Given the description of an element on the screen output the (x, y) to click on. 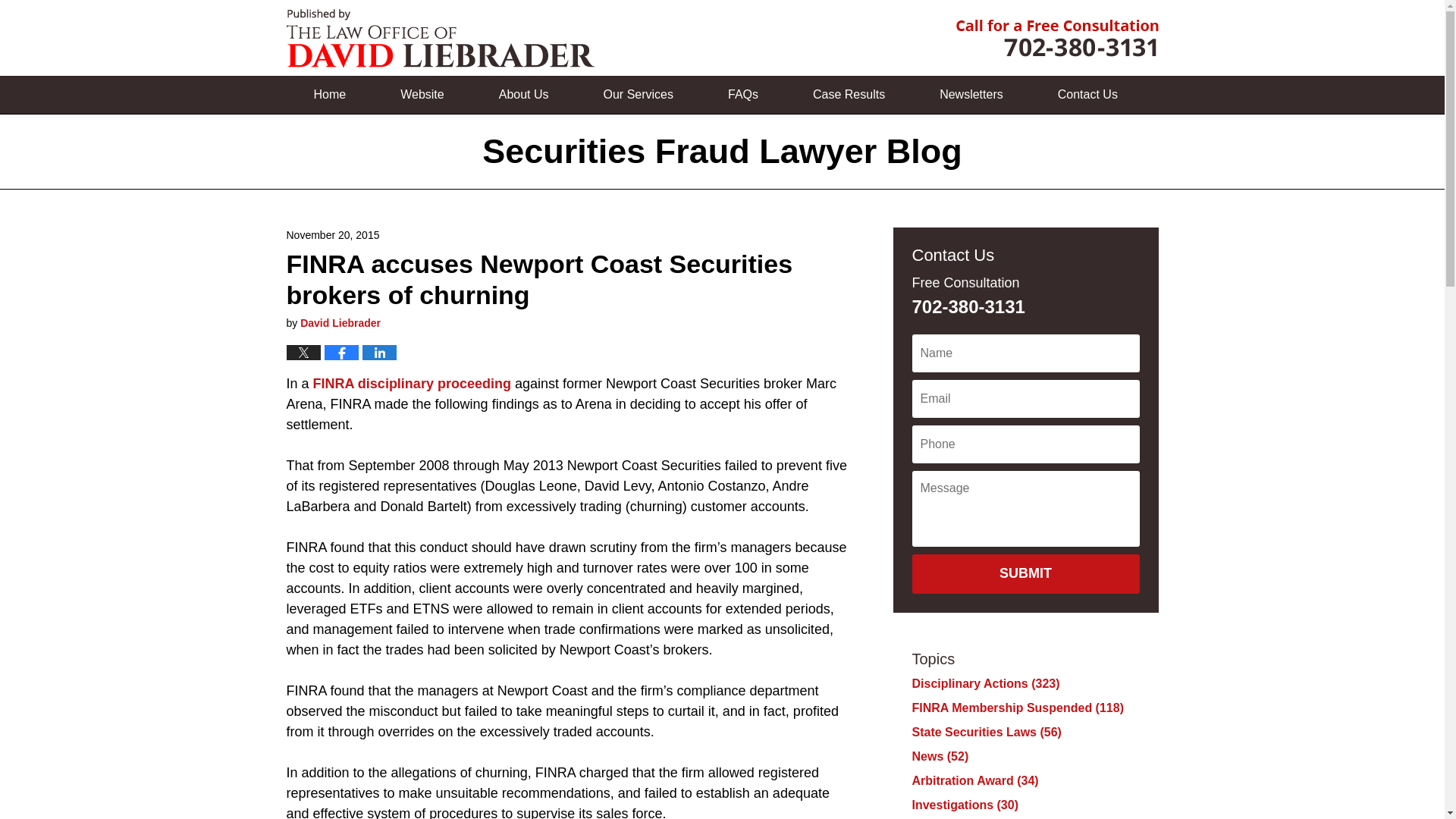
Home (330, 94)
About Us (523, 94)
Our Services (638, 94)
SUBMIT (1024, 573)
Please enter a valid phone number. (1024, 444)
Securities Fraud Lawyer Blog (440, 38)
Contact Us (1087, 94)
Newsletters (971, 94)
Published By The Law Office of David Liebrader (1056, 37)
Website (421, 94)
